Given the description of an element on the screen output the (x, y) to click on. 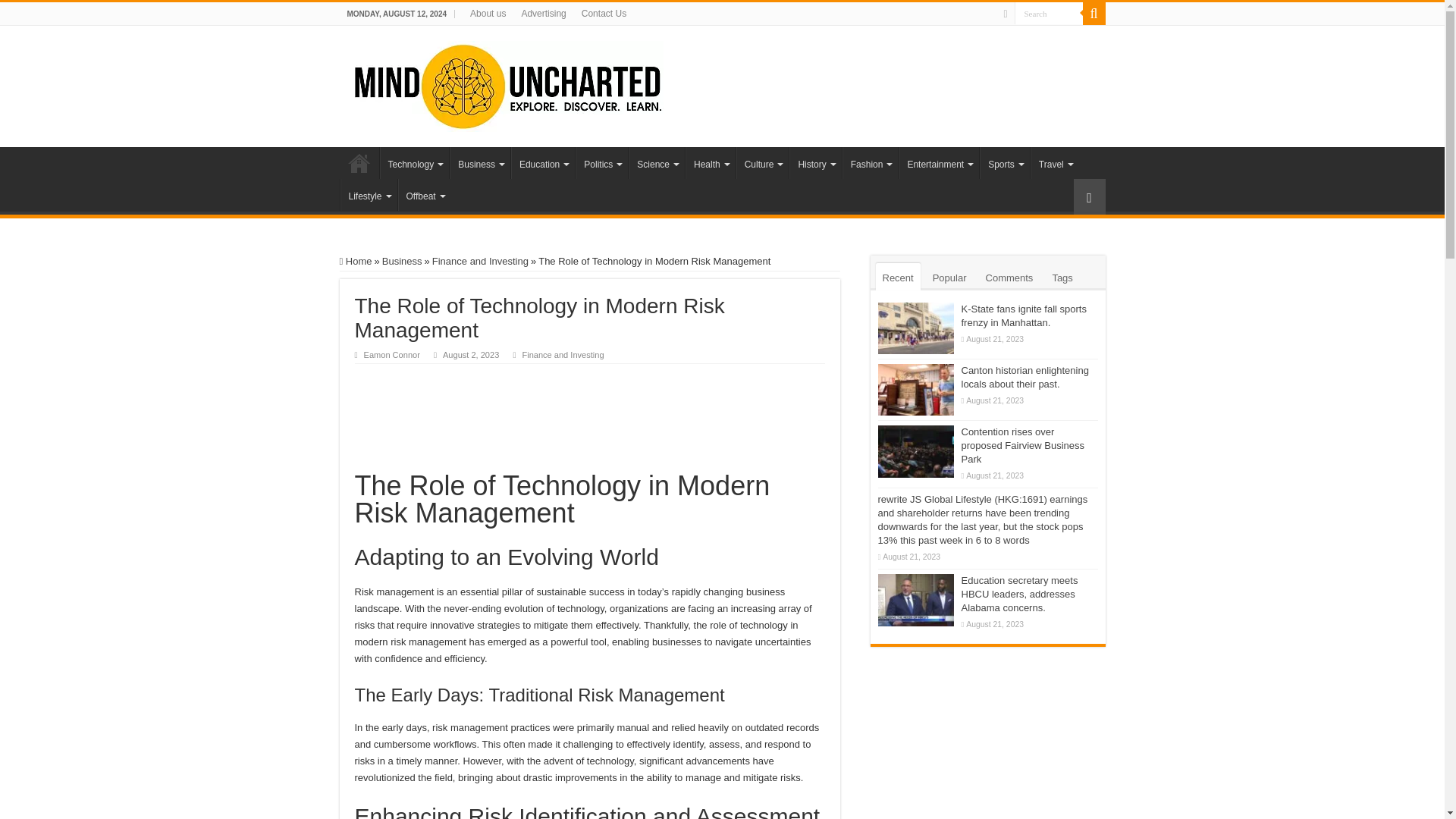
Mind Uncharted (506, 83)
Search (1048, 13)
Search (1048, 13)
Search (1048, 13)
